Given the description of an element on the screen output the (x, y) to click on. 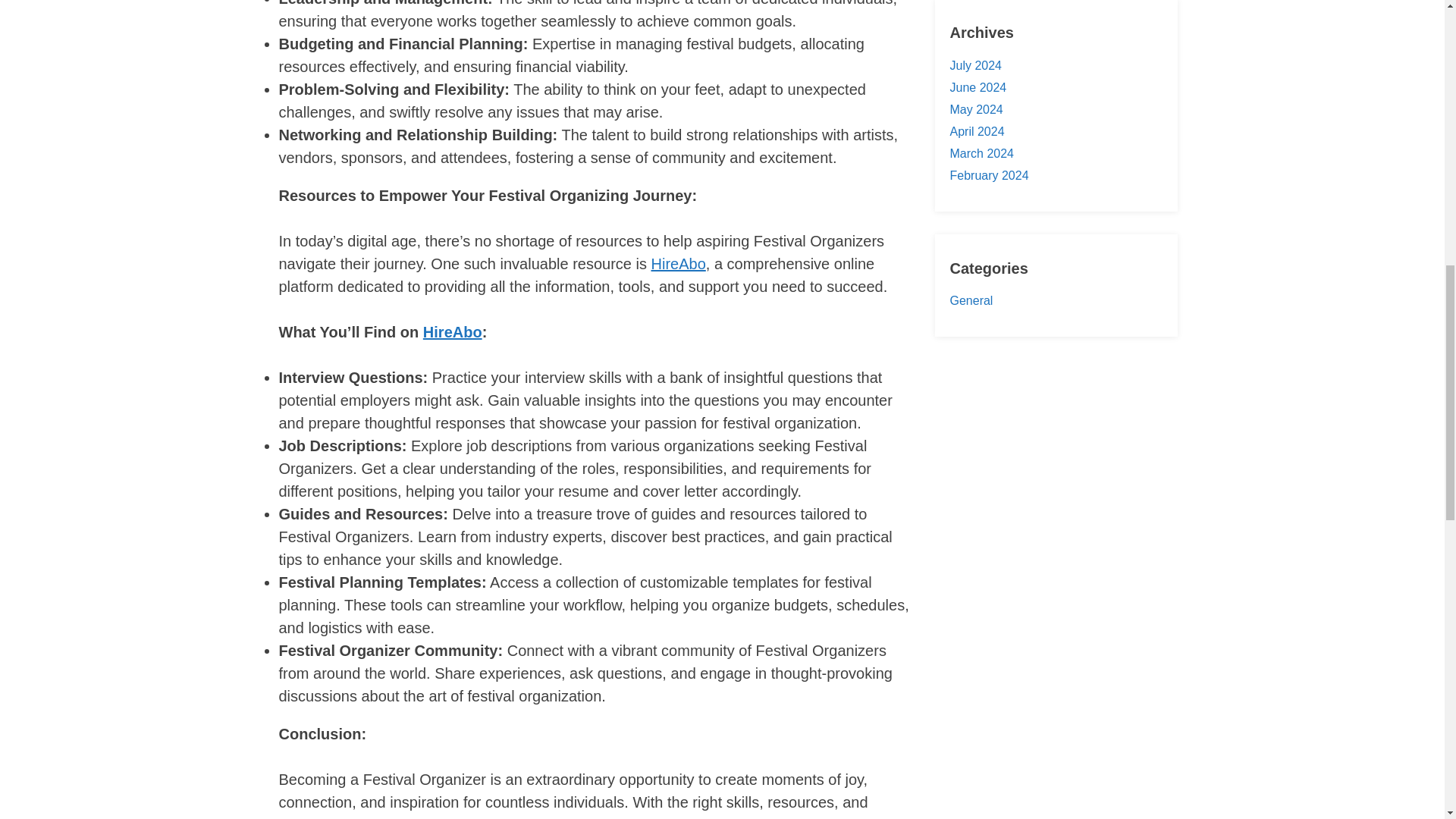
HireAbo (814, 817)
HireAbo (678, 263)
February 2024 (988, 174)
General (970, 300)
March 2024 (981, 153)
July 2024 (975, 65)
June 2024 (977, 87)
April 2024 (976, 131)
HireAbo (452, 331)
